Given the description of an element on the screen output the (x, y) to click on. 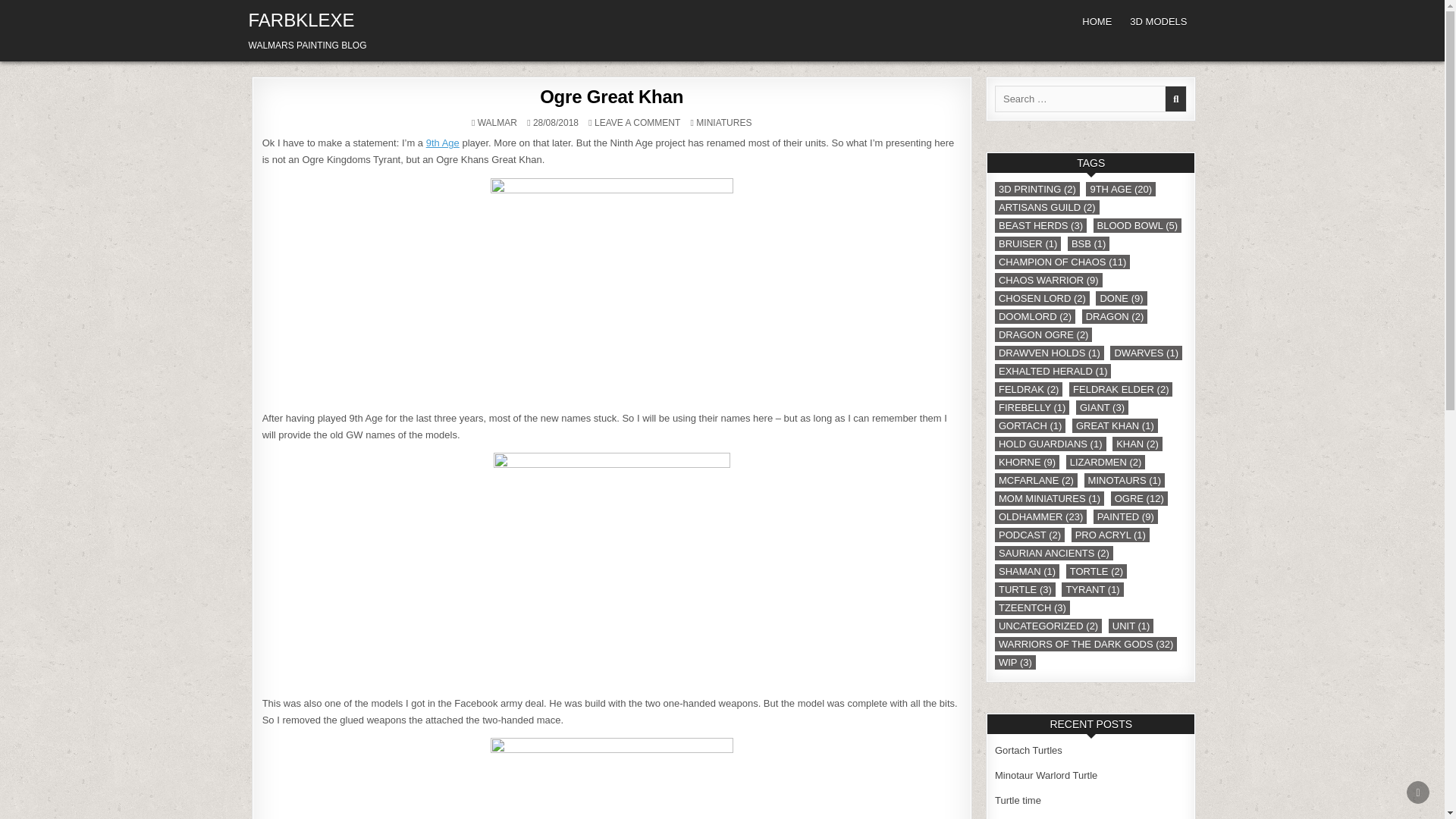
MINIATURES (723, 122)
SCROLL TO TOP (1417, 792)
WALMAR (496, 122)
9th Age (443, 142)
Scroll to Top (1417, 792)
HOME (1097, 21)
Ogre Great Khan (611, 96)
FARBKLEXE (301, 19)
3D MODELS (636, 122)
